Given the description of an element on the screen output the (x, y) to click on. 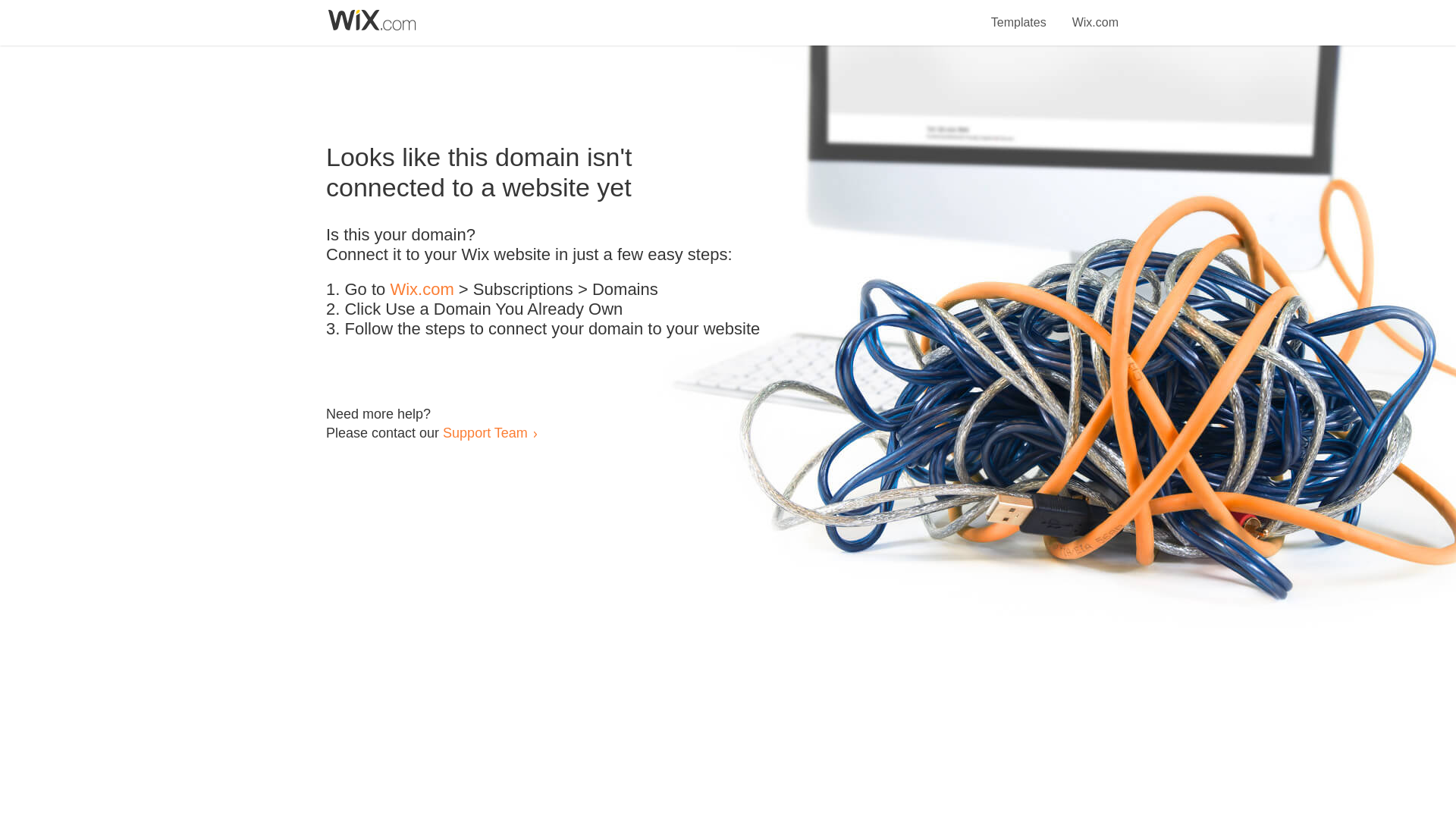
Wix.com (421, 289)
Wix.com (1095, 14)
Templates (1018, 14)
Support Team (484, 432)
